Given the description of an element on the screen output the (x, y) to click on. 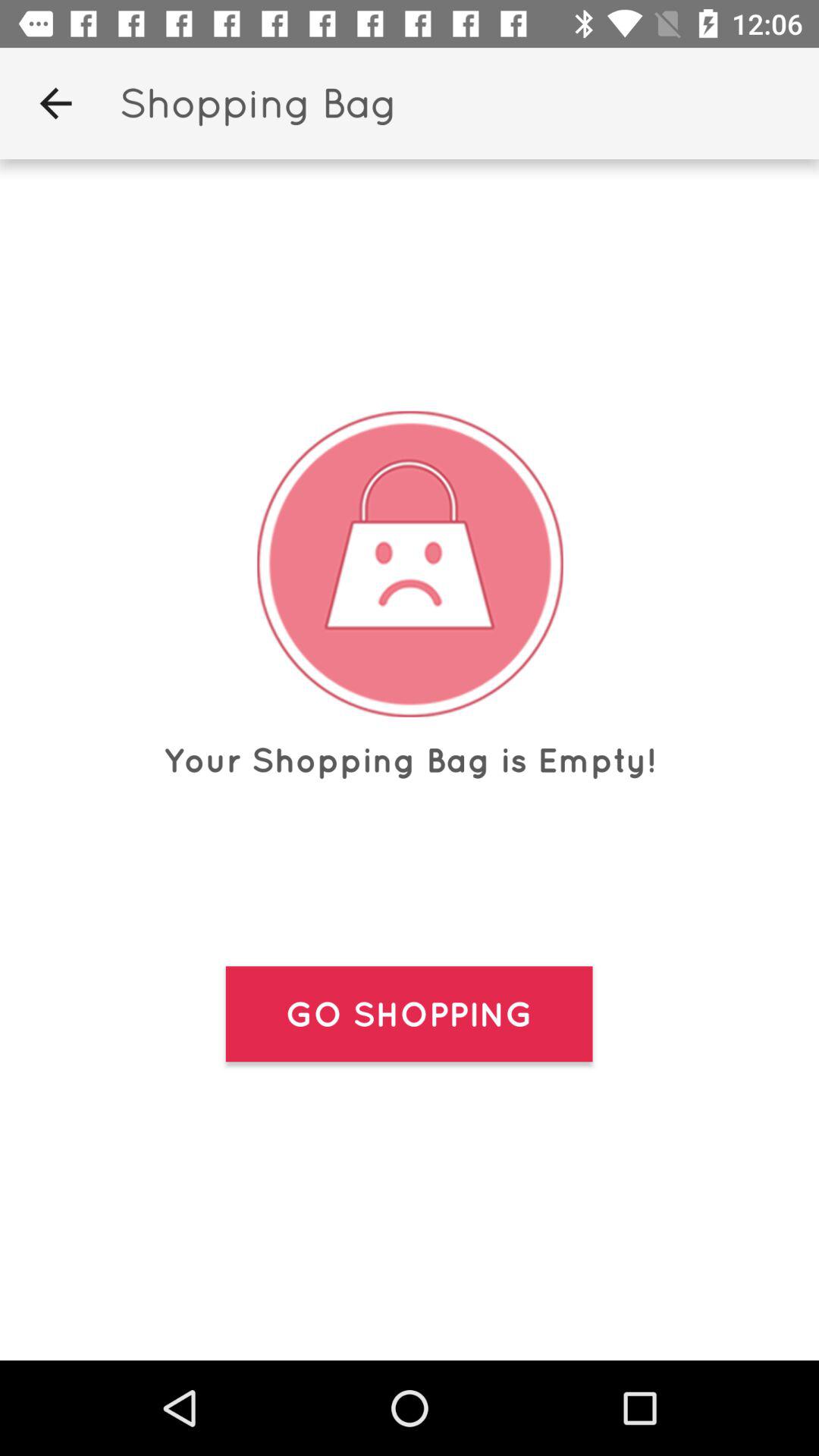
click the go shopping (408, 1013)
